Given the description of an element on the screen output the (x, y) to click on. 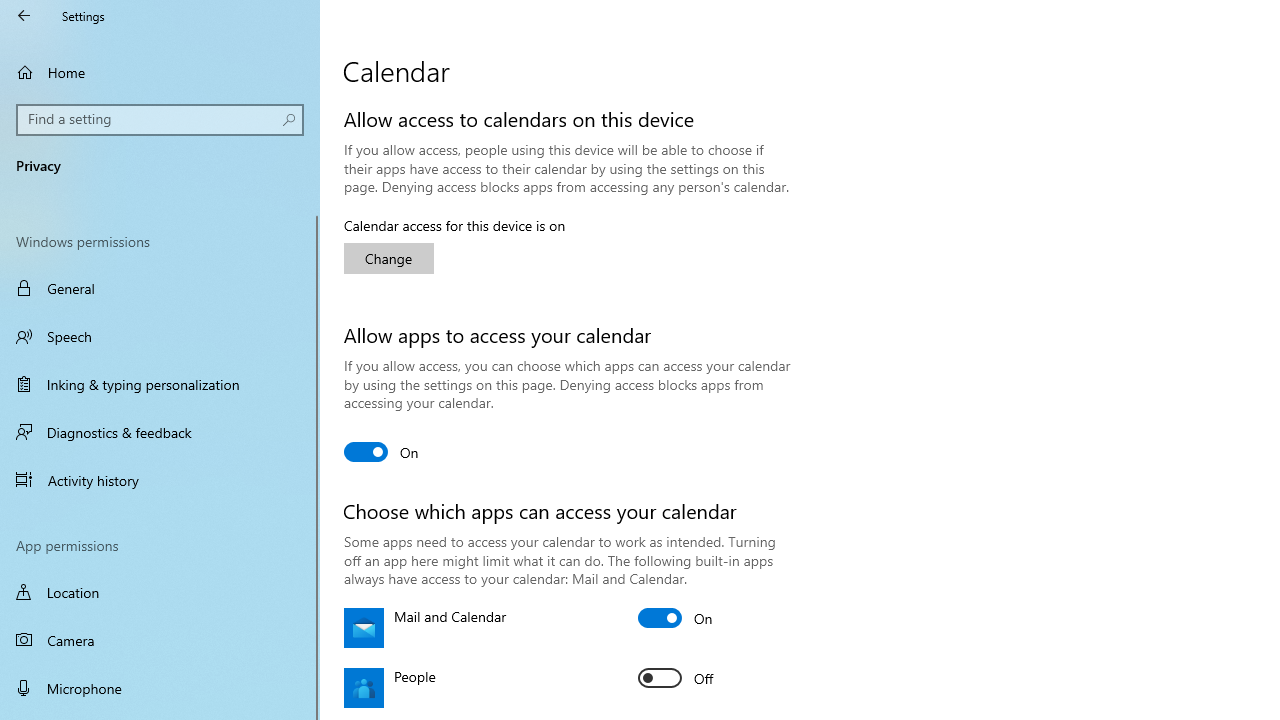
Change (388, 258)
Home (160, 71)
Diagnostics & feedback (160, 431)
Inking & typing personalization (160, 384)
Allow apps to access your calendar (381, 452)
Microphone (160, 687)
Location (160, 592)
Back (24, 15)
Activity history (160, 479)
General (160, 287)
Mail and Calendar (675, 617)
Camera (160, 639)
Speech (160, 335)
People (675, 677)
Search box, Find a setting (160, 119)
